Given the description of an element on the screen output the (x, y) to click on. 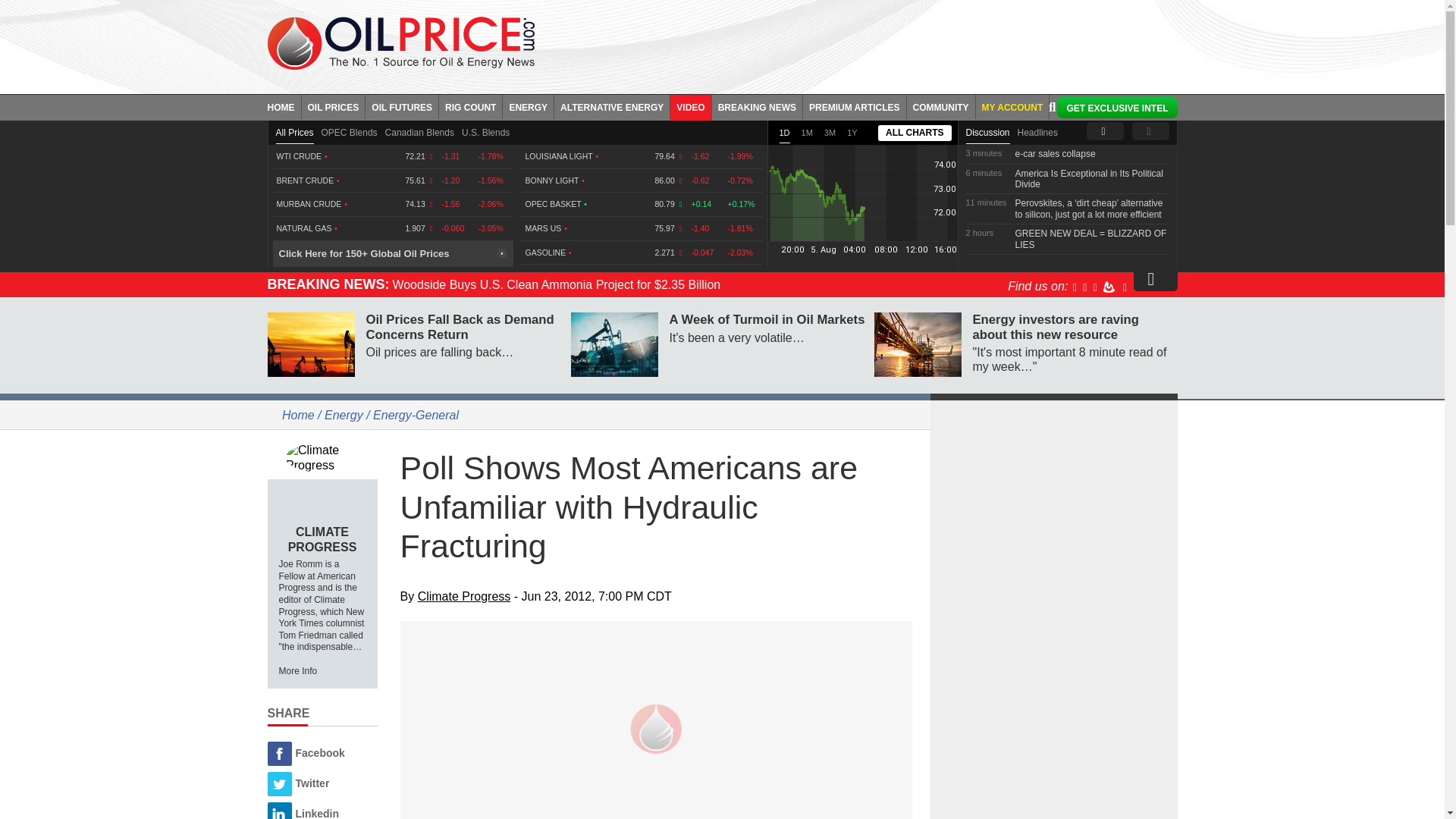
RIG COUNT (470, 106)
OIL PRICES (333, 106)
ALTERNATIVE ENERGY (611, 106)
Oil Prices Fall Back as Demand Concerns Return (309, 344)
VIDEO (690, 106)
BREAKING NEWS (757, 106)
COMMUNITY (941, 106)
MY ACCOUNT (1012, 106)
PREMIUM ARTICLES (855, 106)
ENERGY (528, 106)
Oil prices - Oilprice.com (400, 42)
A Week of Turmoil in Oil Markets (614, 344)
Climate Progress (321, 457)
HOME (283, 106)
OIL FUTURES (402, 106)
